Given the description of an element on the screen output the (x, y) to click on. 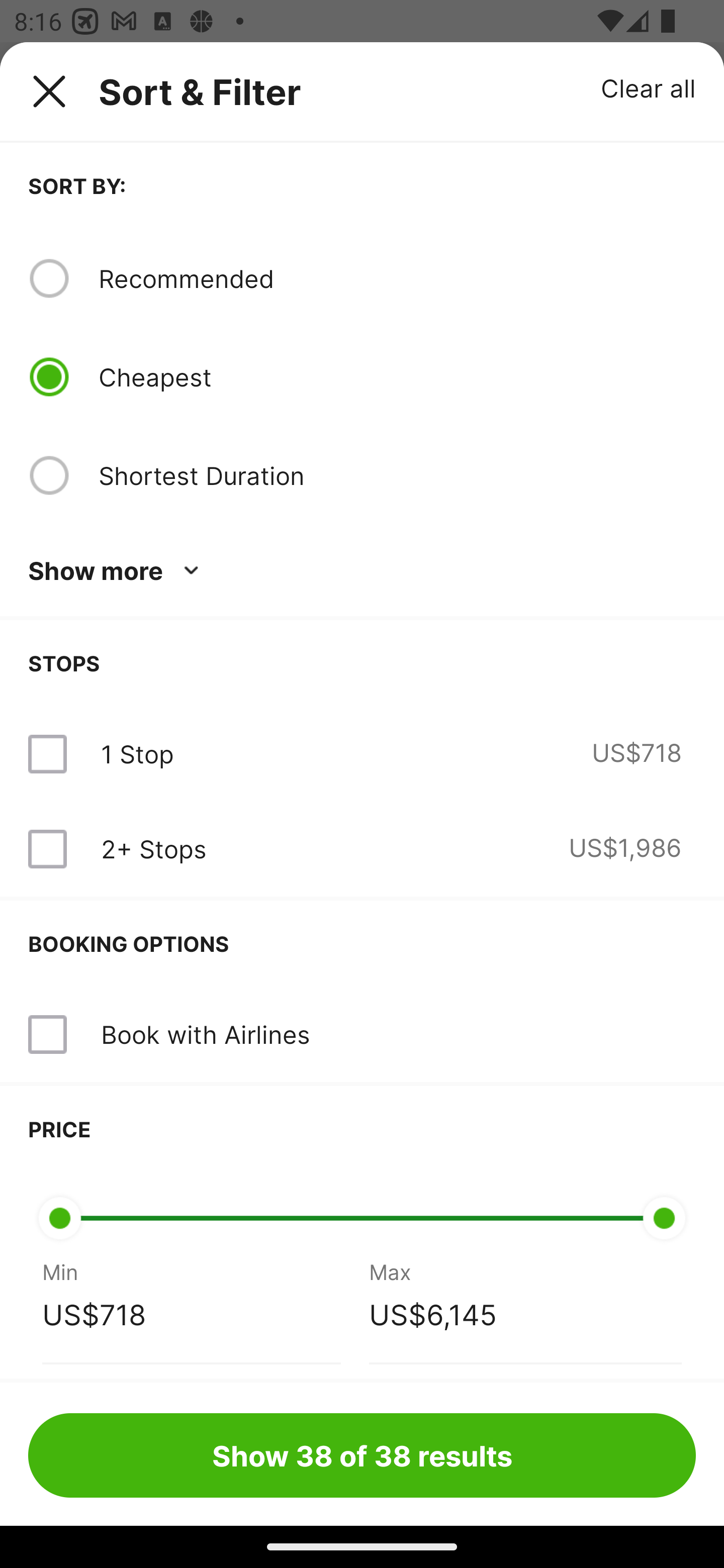
Clear all (648, 87)
Recommended  (396, 278)
Cheapest (396, 377)
Shortest Duration (396, 474)
Show more (116, 570)
1 Stop US$718 (362, 754)
1 Stop (136, 753)
2+ Stops US$1,986 (362, 848)
2+ Stops (153, 849)
Book with Airlines (362, 1033)
Book with Airlines (204, 1034)
Show 38 of 38 results (361, 1454)
